Given the description of an element on the screen output the (x, y) to click on. 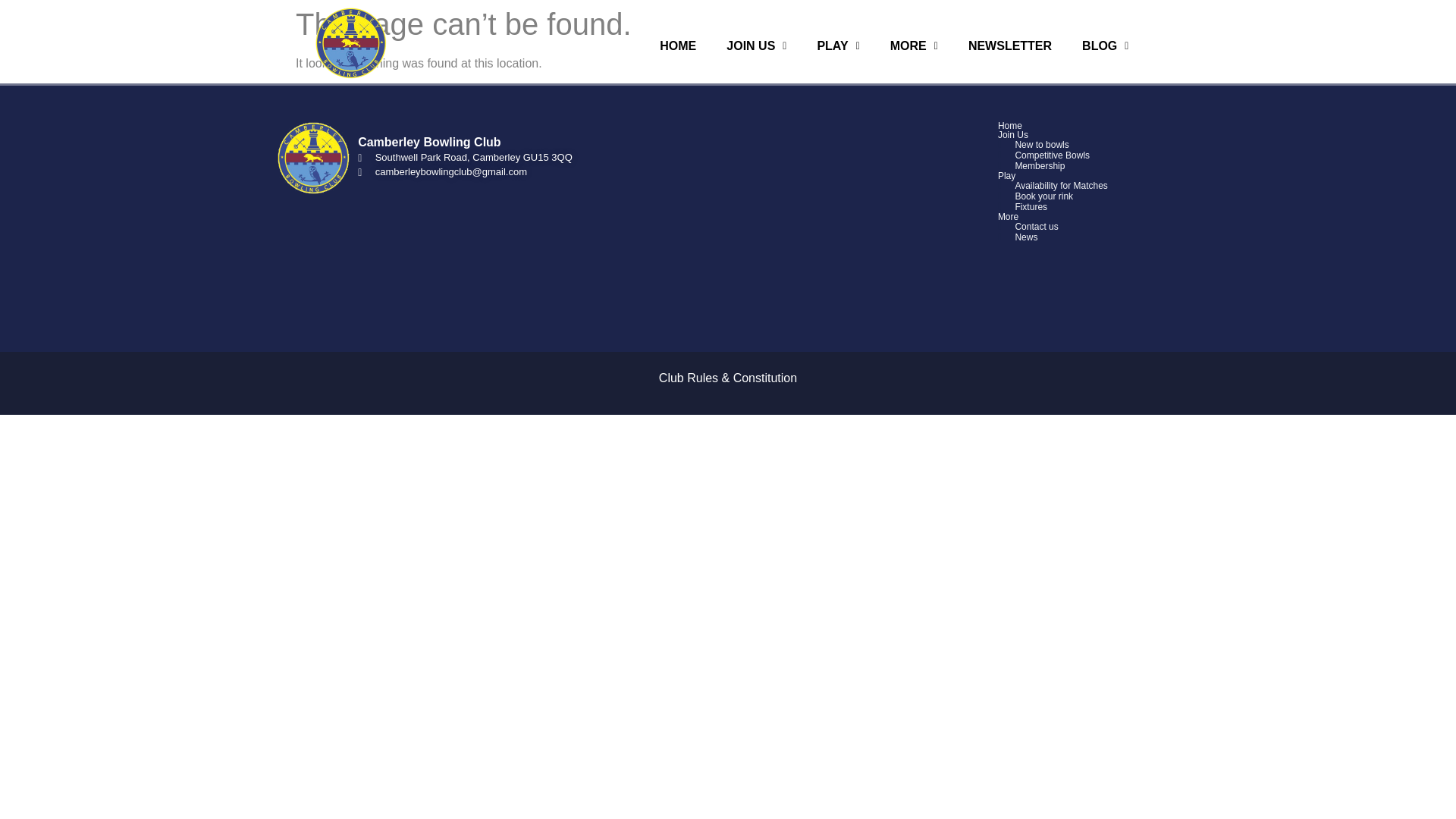
Camberley Bowling Club (797, 202)
NEWSLETTER (1009, 45)
News (1111, 236)
Southwell Park Road, Camberley GU15 3QQ (476, 157)
JOIN US (756, 45)
Availability for Matches (1111, 185)
Membership (1111, 165)
Home (1111, 125)
MORE (913, 45)
Competitive Bowls (1111, 154)
PLAY (837, 45)
BLOG (1104, 45)
HOME (677, 45)
Fixtures (1111, 206)
Book your rink (1111, 195)
